Given the description of an element on the screen output the (x, y) to click on. 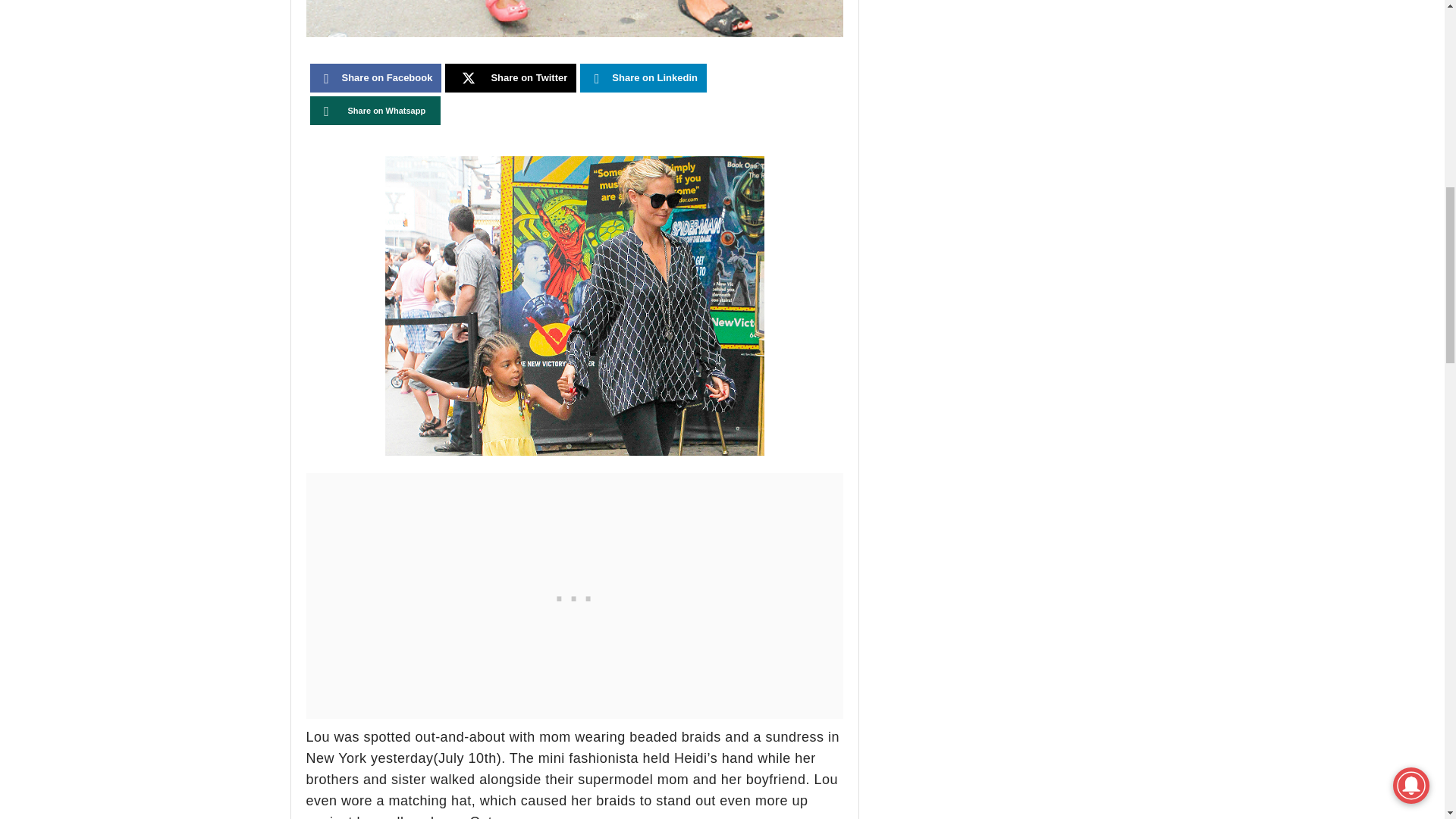
Share on Facebook (374, 77)
Share on Linkedin (642, 77)
Share on Whatsapp (374, 110)
Share on Twitter (510, 77)
